Given the description of an element on the screen output the (x, y) to click on. 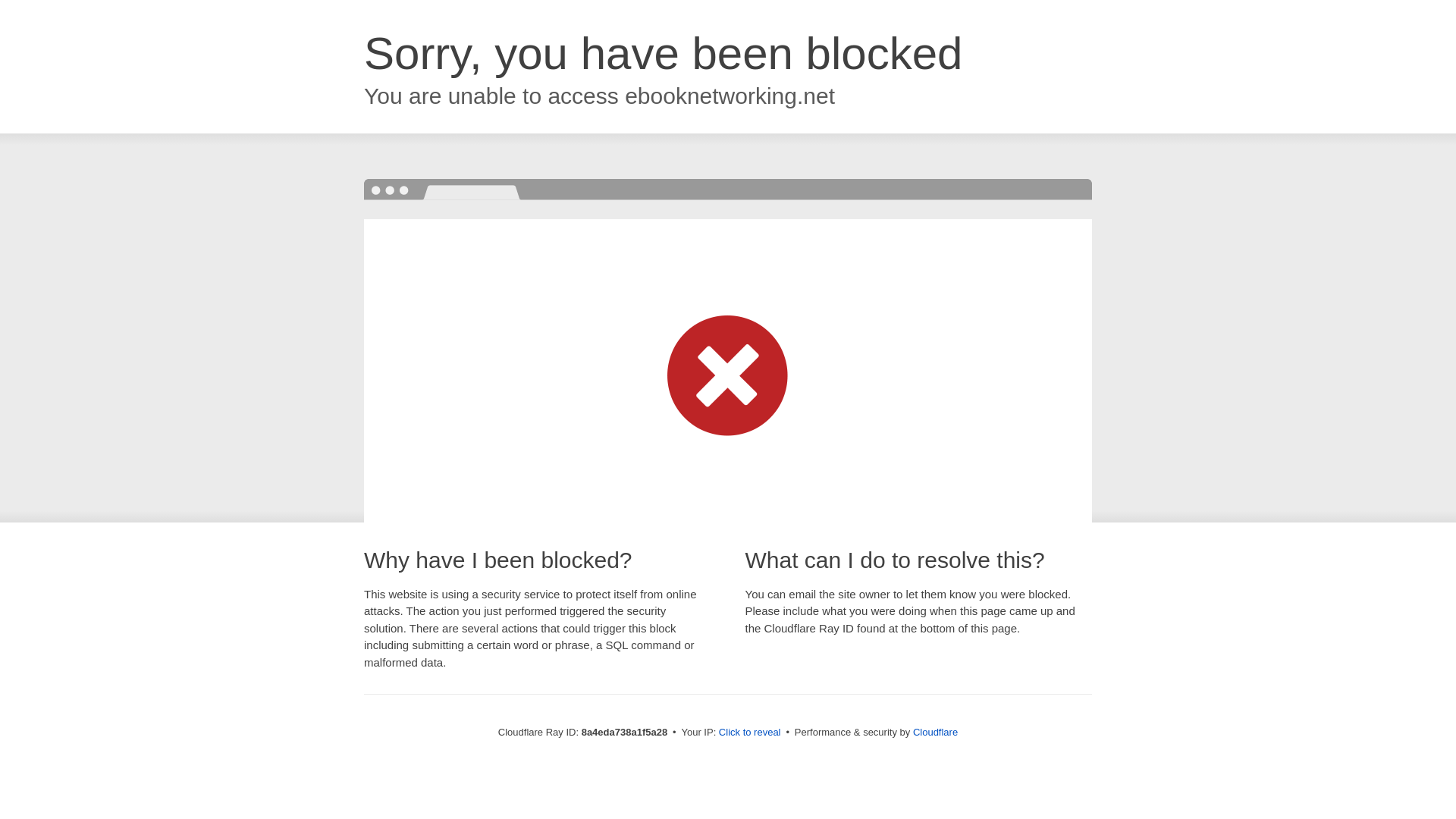
Cloudflare (935, 731)
Click to reveal (749, 732)
